Given the description of an element on the screen output the (x, y) to click on. 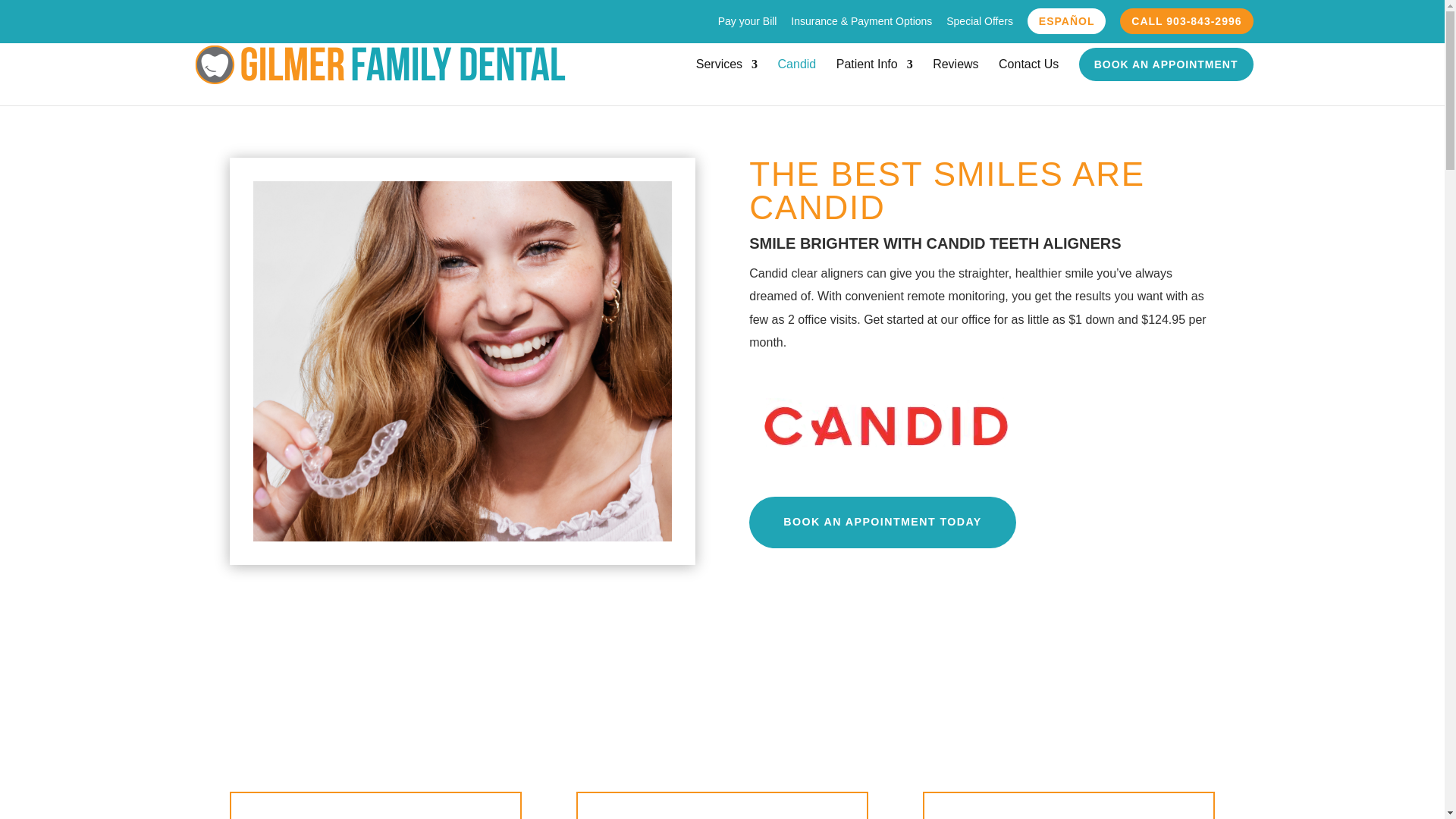
CALL 903-843-2996 (1185, 20)
candid-logo (886, 425)
Special Offers (979, 24)
Services (726, 76)
Candid (796, 76)
Pay your Bill (747, 24)
Patient Info (873, 76)
